Given the description of an element on the screen output the (x, y) to click on. 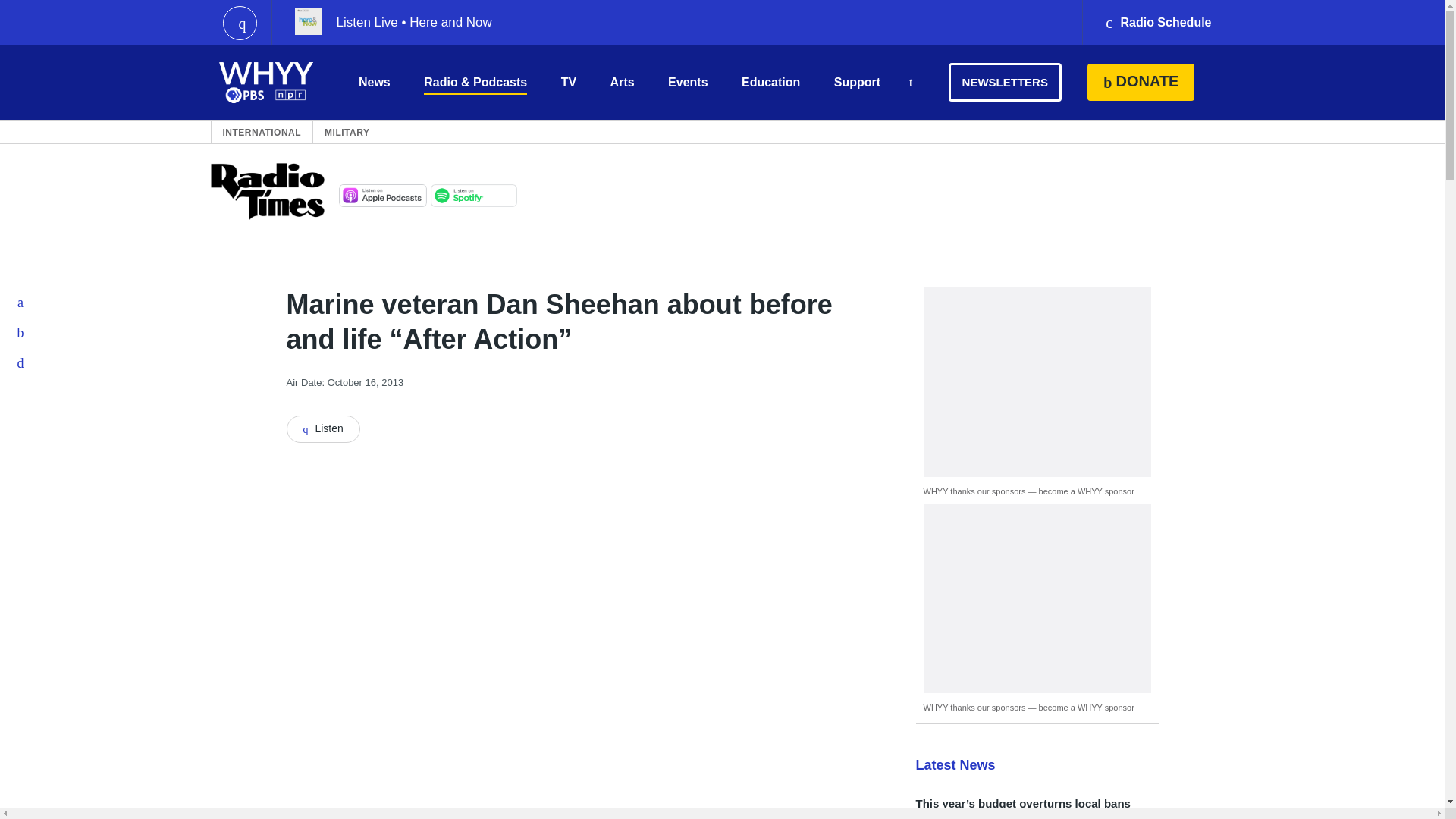
Facebook (21, 302)
Email (21, 363)
Twitter (21, 332)
WHYY (266, 82)
INTERNATIONAL (261, 132)
MILITARY (346, 132)
Search (910, 83)
Radio Schedule (1157, 22)
